Given the description of an element on the screen output the (x, y) to click on. 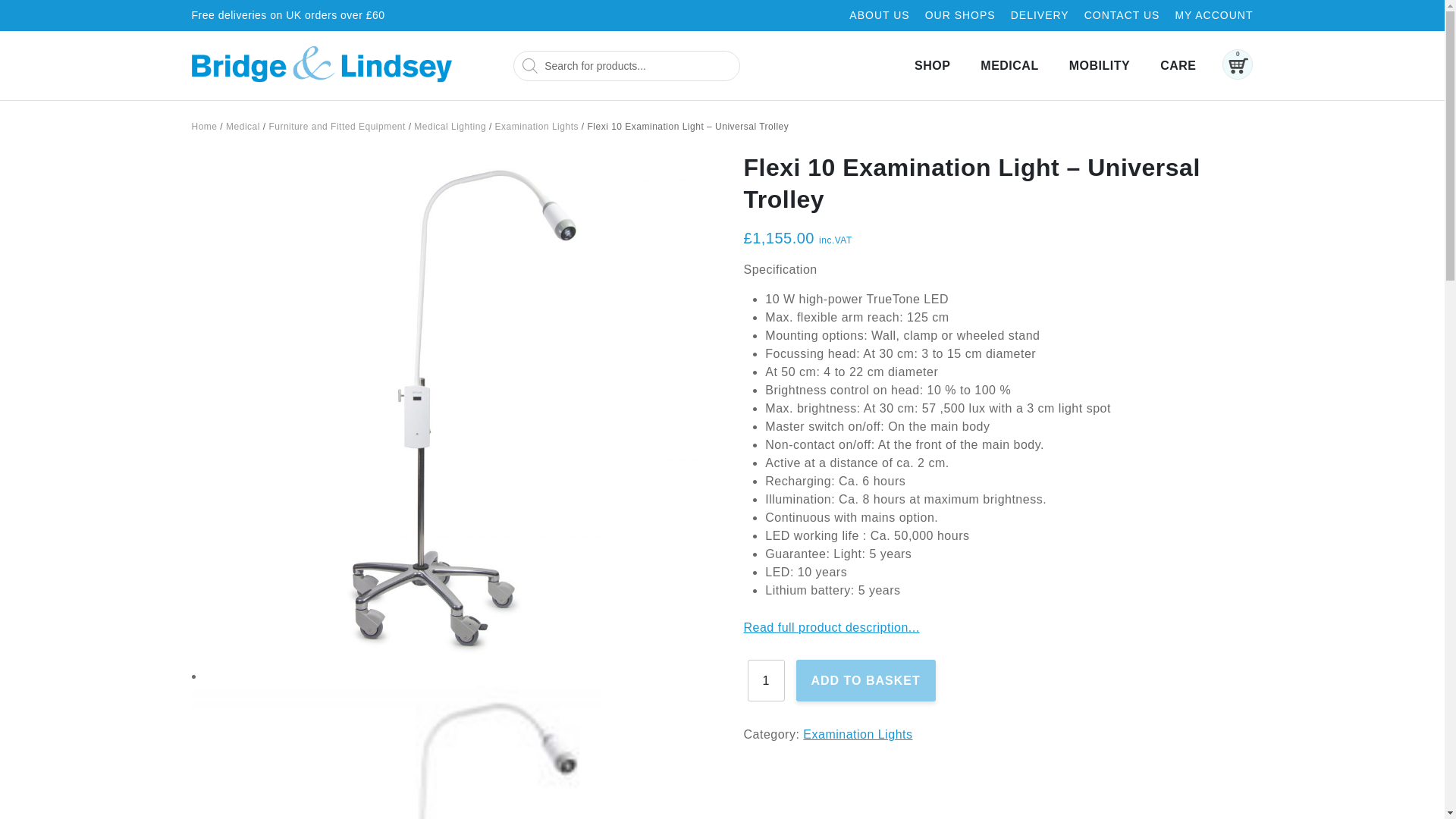
DELIVERY (1039, 15)
OUR SHOPS (959, 15)
ABOUT US (878, 15)
MEDICAL (1008, 65)
1 (766, 680)
SHOP (932, 65)
MY ACCOUNT (1213, 15)
CONTACT US (1122, 15)
